Given the description of an element on the screen output the (x, y) to click on. 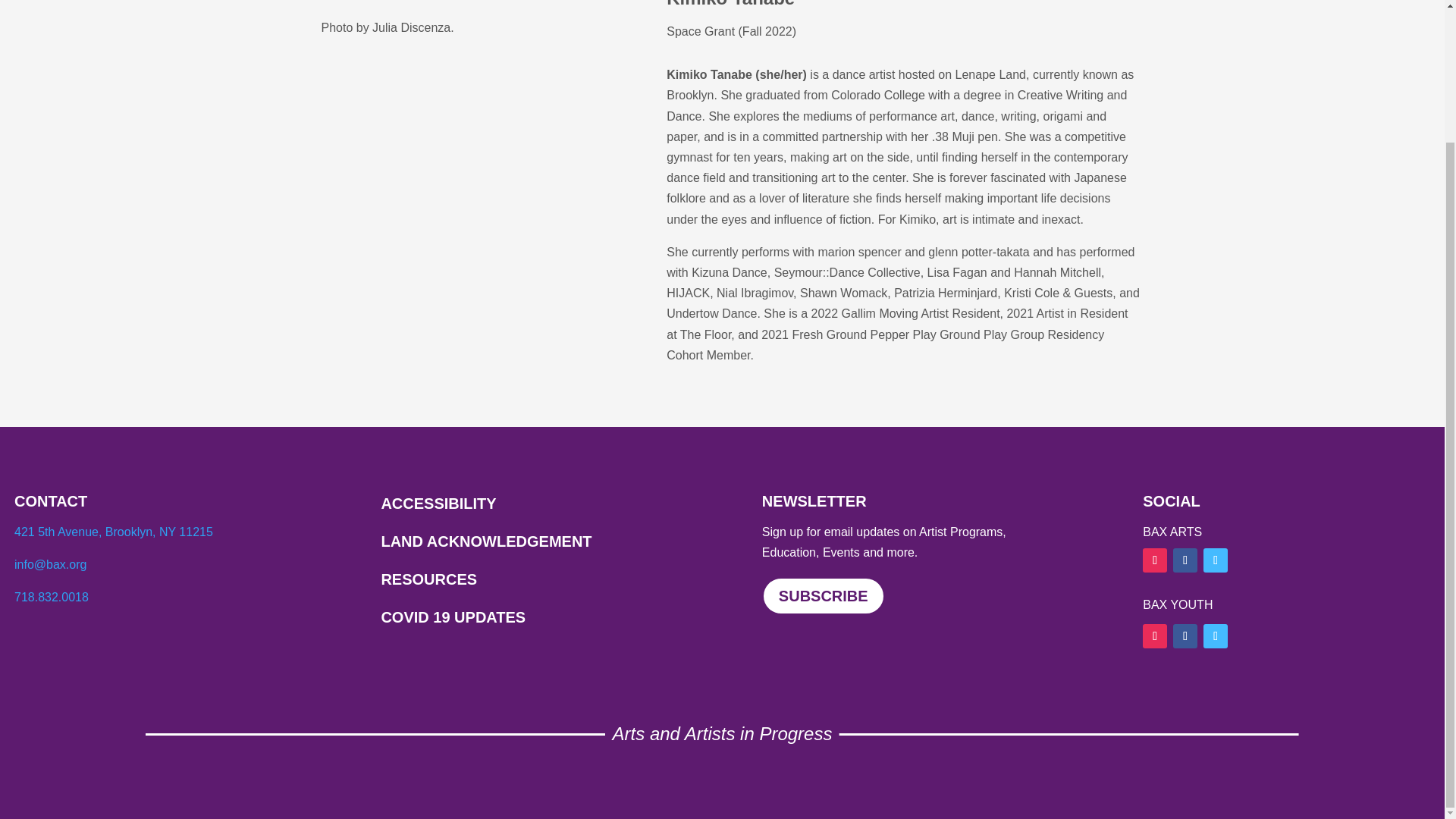
BAX on Google Maps (59, 531)
718.832.0018 (51, 596)
Brooklyn, NY 11215 (158, 531)
Follow on Vimeo (1215, 636)
SUBSCRIBE (823, 596)
COVID 19 UPDATES (452, 617)
Follow on Facebook (1184, 636)
Follow on Instagram (1154, 559)
Follow on Instagram (1154, 636)
Follow on Facebook (1184, 559)
ACCESSIBILITY (438, 503)
LAND ACKNOWLEDGEMENT (485, 541)
RESOURCES  (430, 579)
421 5th Avenue,  (59, 531)
BAX on Google Maps (158, 531)
